Given the description of an element on the screen output the (x, y) to click on. 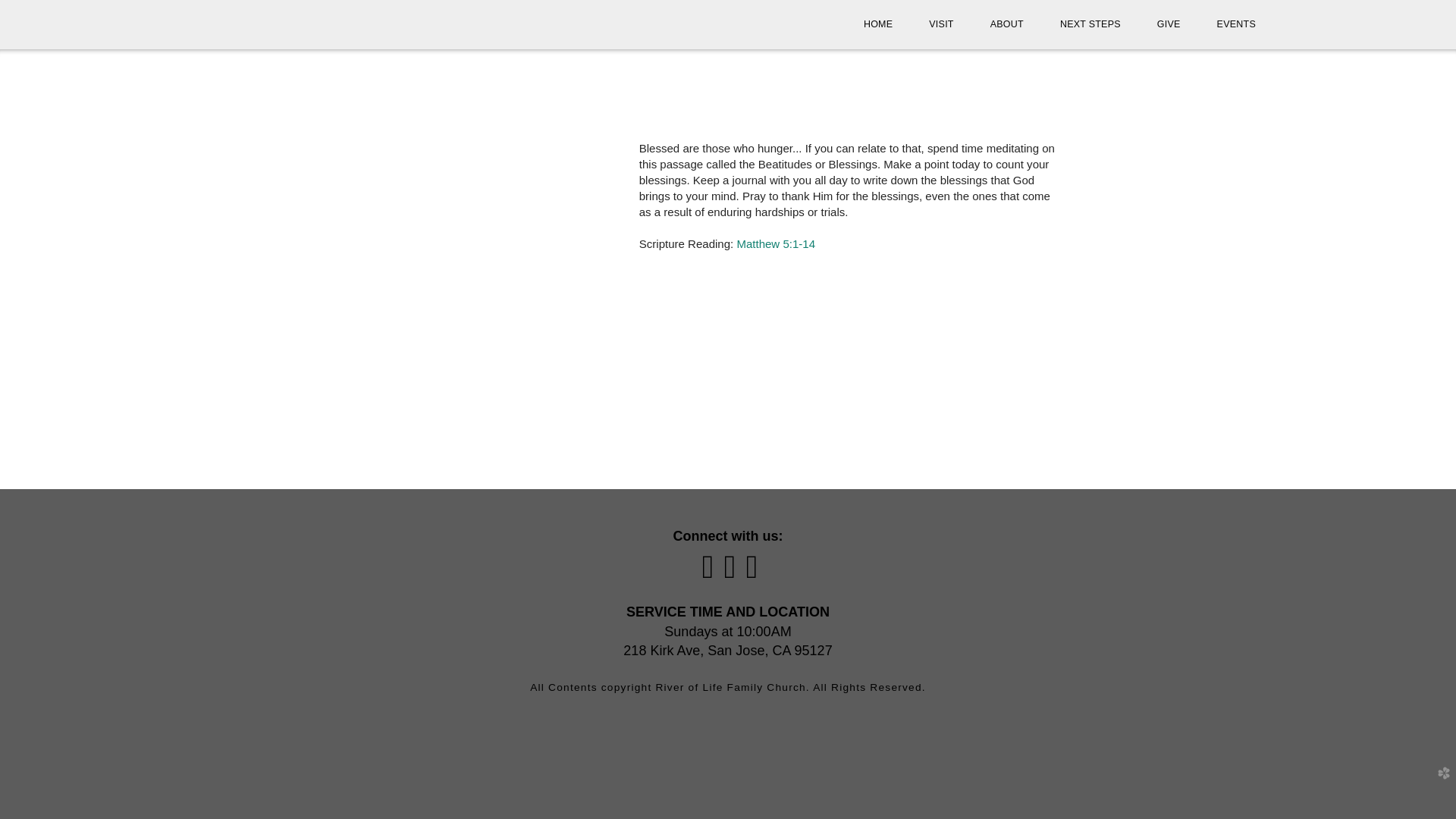
ABOUT (1007, 24)
VISIT (941, 24)
HOME (878, 24)
EVENTS (1236, 24)
GIVE (1168, 24)
NEXT STEPS (1090, 24)
